Given the description of an element on the screen output the (x, y) to click on. 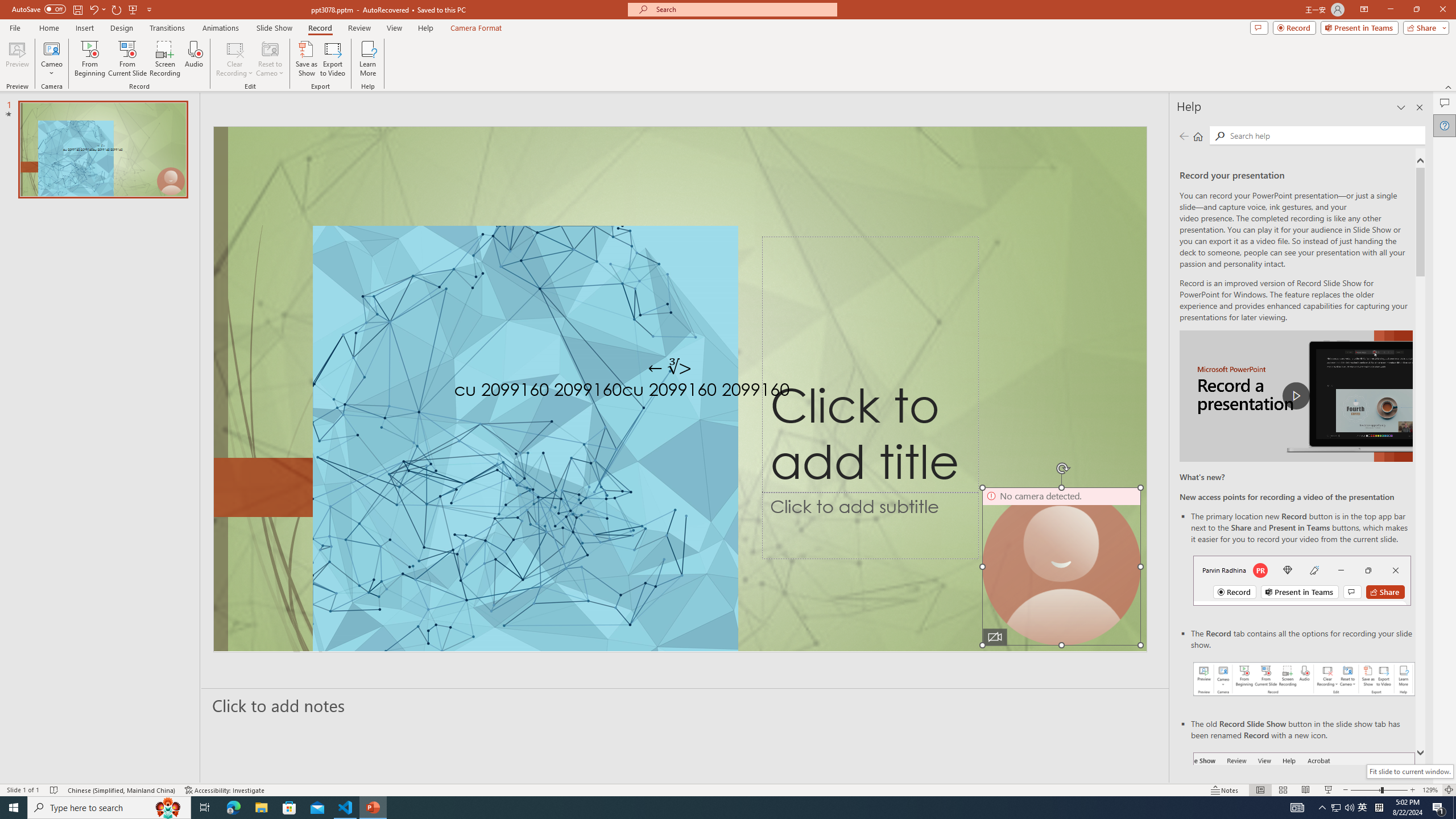
Zoom 129% (1430, 790)
An abstract genetic concept (680, 388)
